Given the description of an element on the screen output the (x, y) to click on. 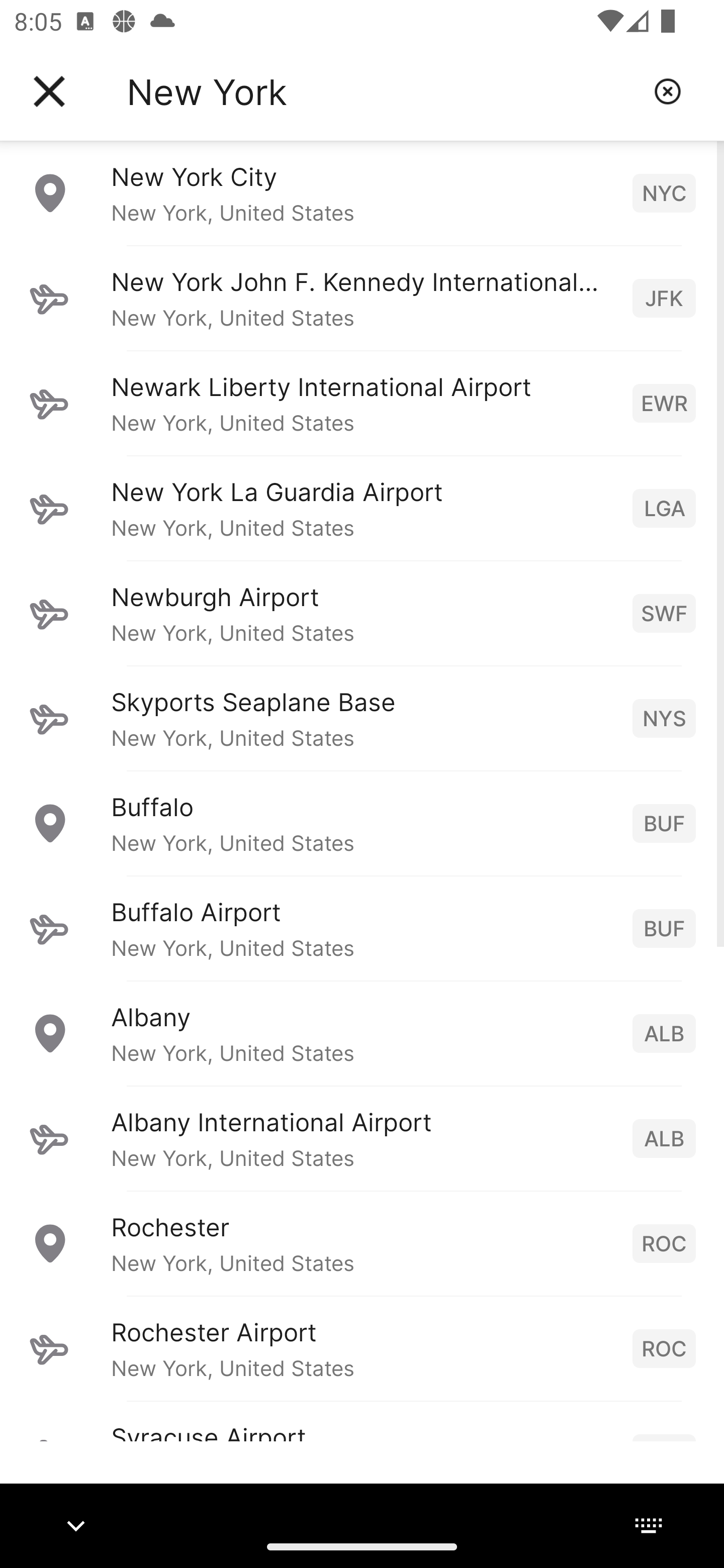
New York (382, 91)
New York City New York, United States NYC (362, 192)
Newburgh Airport New York, United States SWF (362, 612)
Skyports Seaplane Base New York, United States NYS (362, 717)
Buffalo New York, United States BUF (362, 822)
Buffalo Airport New York, United States BUF (362, 928)
Albany New York, United States ALB (362, 1033)
Rochester New York, United States ROC (362, 1243)
Rochester Airport New York, United States ROC (362, 1348)
